Given the description of an element on the screen output the (x, y) to click on. 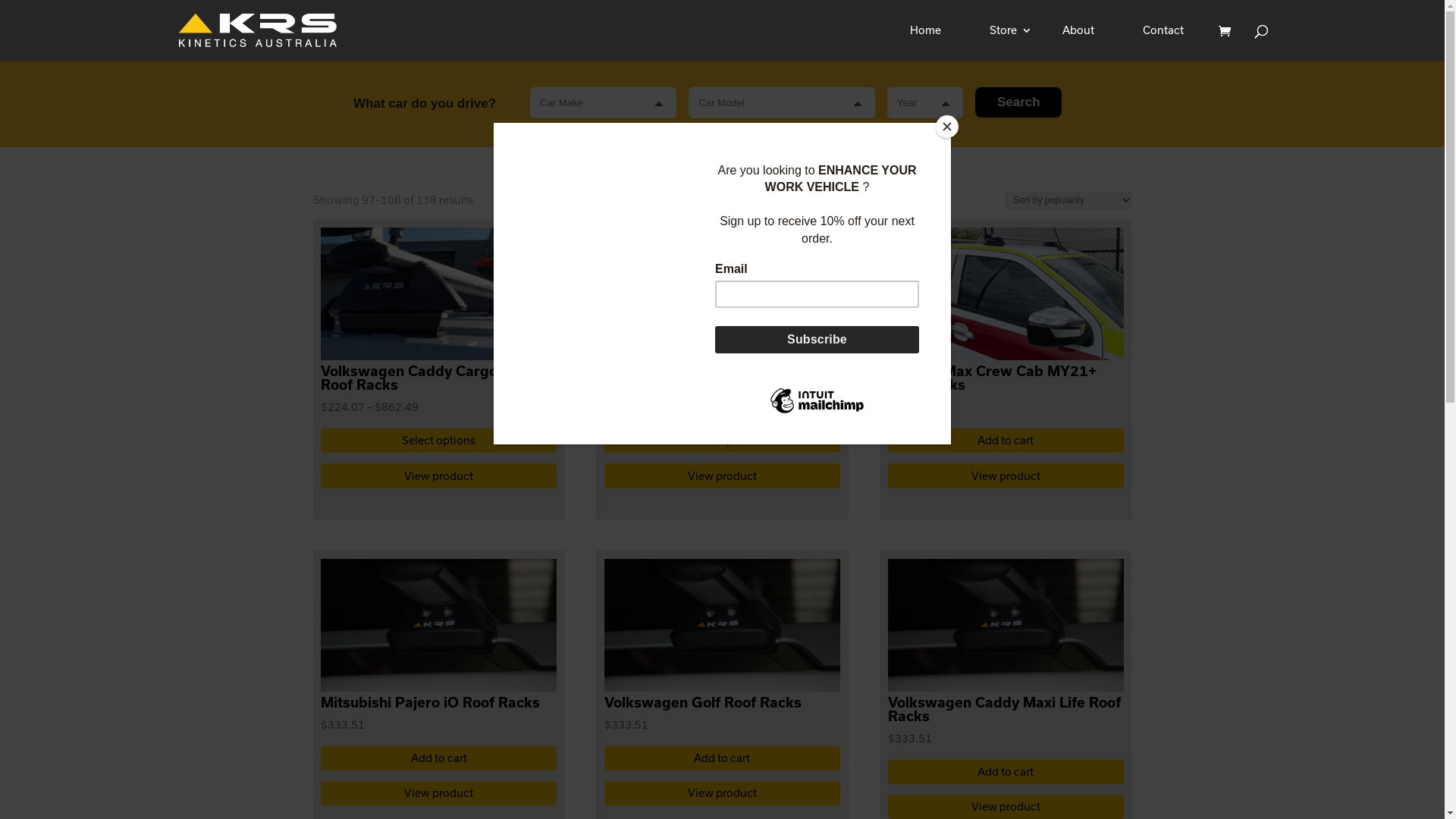
Add to cart Element type: text (438, 758)
Home Element type: text (925, 42)
Contact Element type: text (1162, 42)
Isuzu D-Max Crew Cab MY21+ Roof Racks
$456.50 Element type: text (1005, 336)
View product Element type: text (438, 475)
Mitsubishi Pajero iO Roof Racks
$333.51 Element type: text (438, 661)
View product Element type: text (1005, 475)
Add to cart Element type: text (1005, 771)
View product Element type: text (722, 793)
View product Element type: text (722, 475)
Search Element type: text (1018, 102)
View product Element type: text (438, 793)
Store Element type: text (1001, 42)
Volkswagen Golf Roof Racks
$333.51 Element type: text (722, 661)
Volkswagen Caddy Maxi Life Roof Racks
$333.51 Element type: text (1005, 668)
Add to cart Element type: text (722, 758)
Add to cart Element type: text (1005, 440)
About Element type: text (1078, 42)
Select options Element type: text (722, 440)
Select options Element type: text (438, 440)
